Given the description of an element on the screen output the (x, y) to click on. 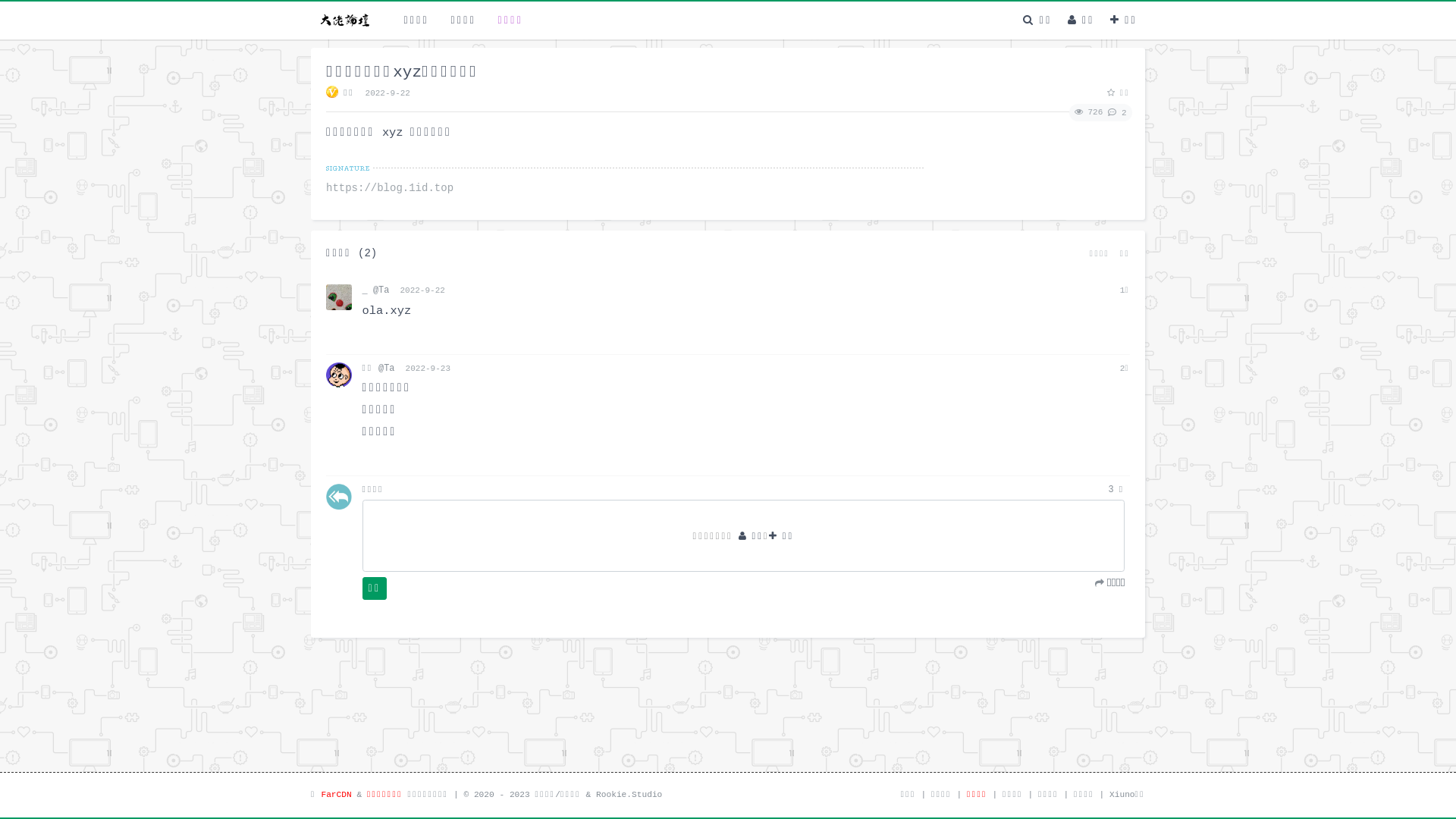
@Ta Element type: text (381, 290)
_ (UID: 836) Element type: hover (338, 297)
FarCDN Element type: text (335, 794)
2 Element type: text (1114, 112)
@Ta Element type: text (386, 368)
Rookie.Studio Element type: text (629, 794)
_ Element type: text (364, 290)
